Given the description of an element on the screen output the (x, y) to click on. 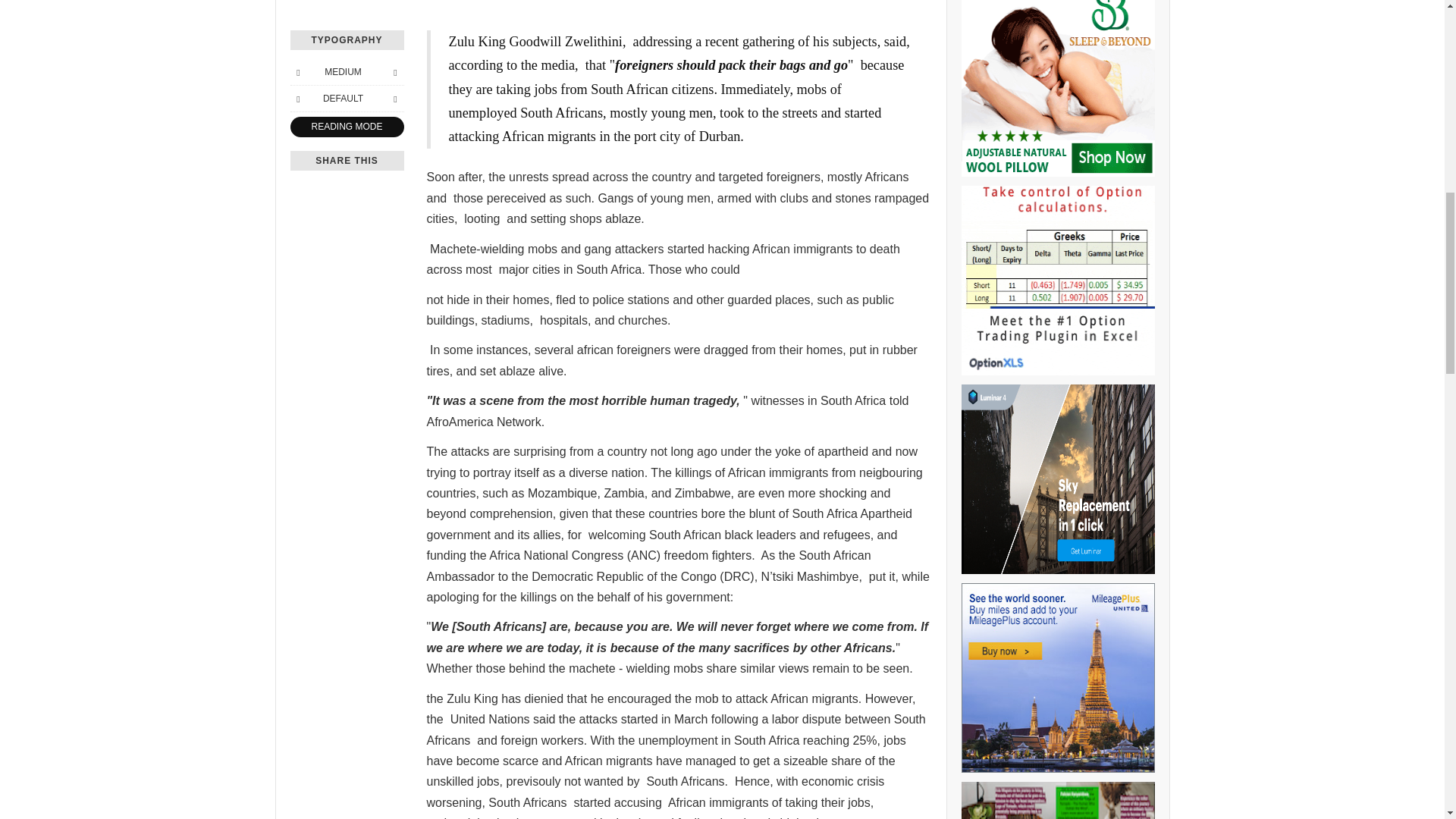
Bigger Font (395, 71)
Next Font Style (395, 98)
Legs of Tornado (1057, 800)
Reading Mode (346, 127)
Smaller Font (297, 71)
Previous Font Style (297, 98)
